Given the description of an element on the screen output the (x, y) to click on. 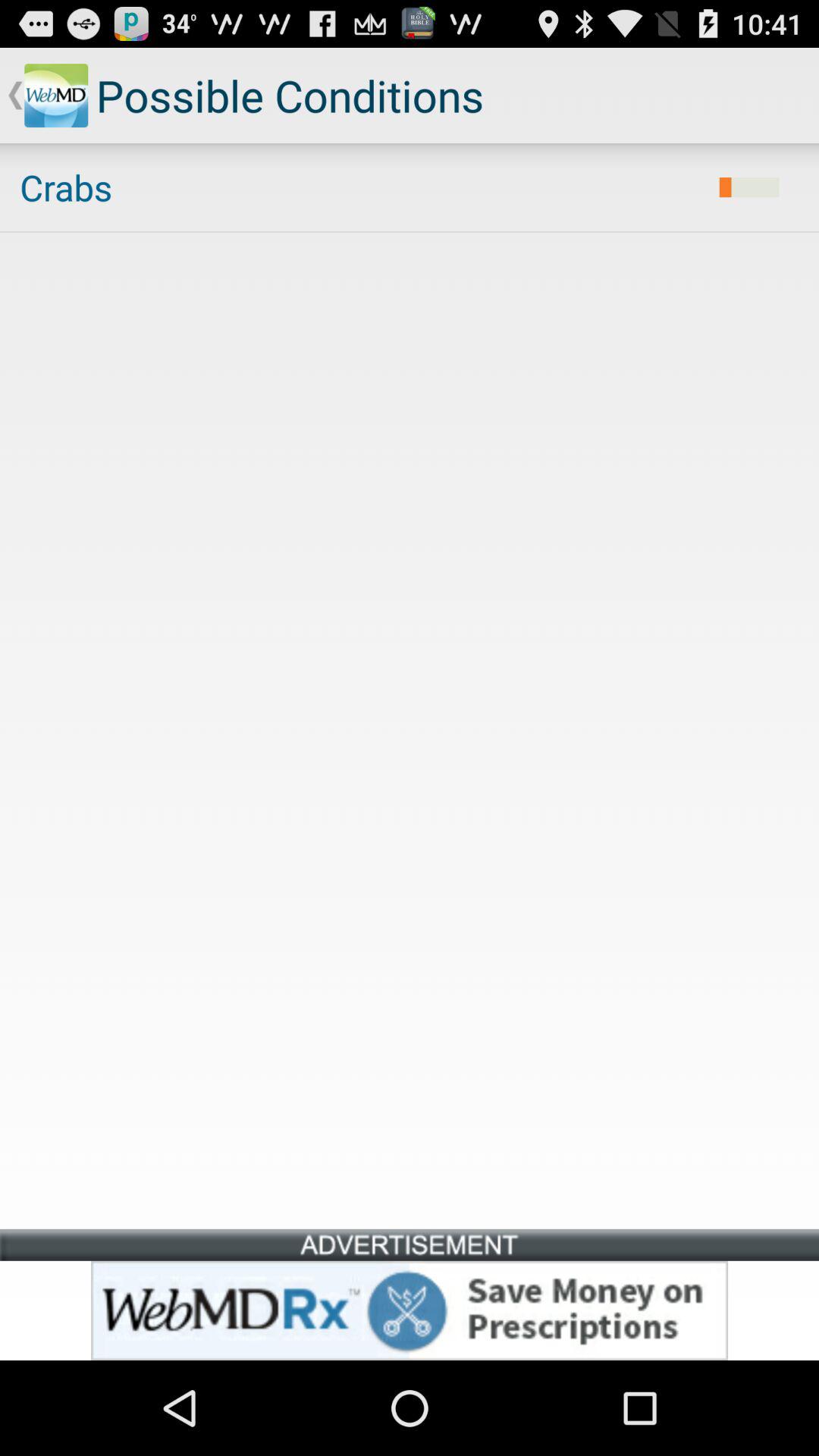
launch icon at the top right corner (749, 187)
